Given the description of an element on the screen output the (x, y) to click on. 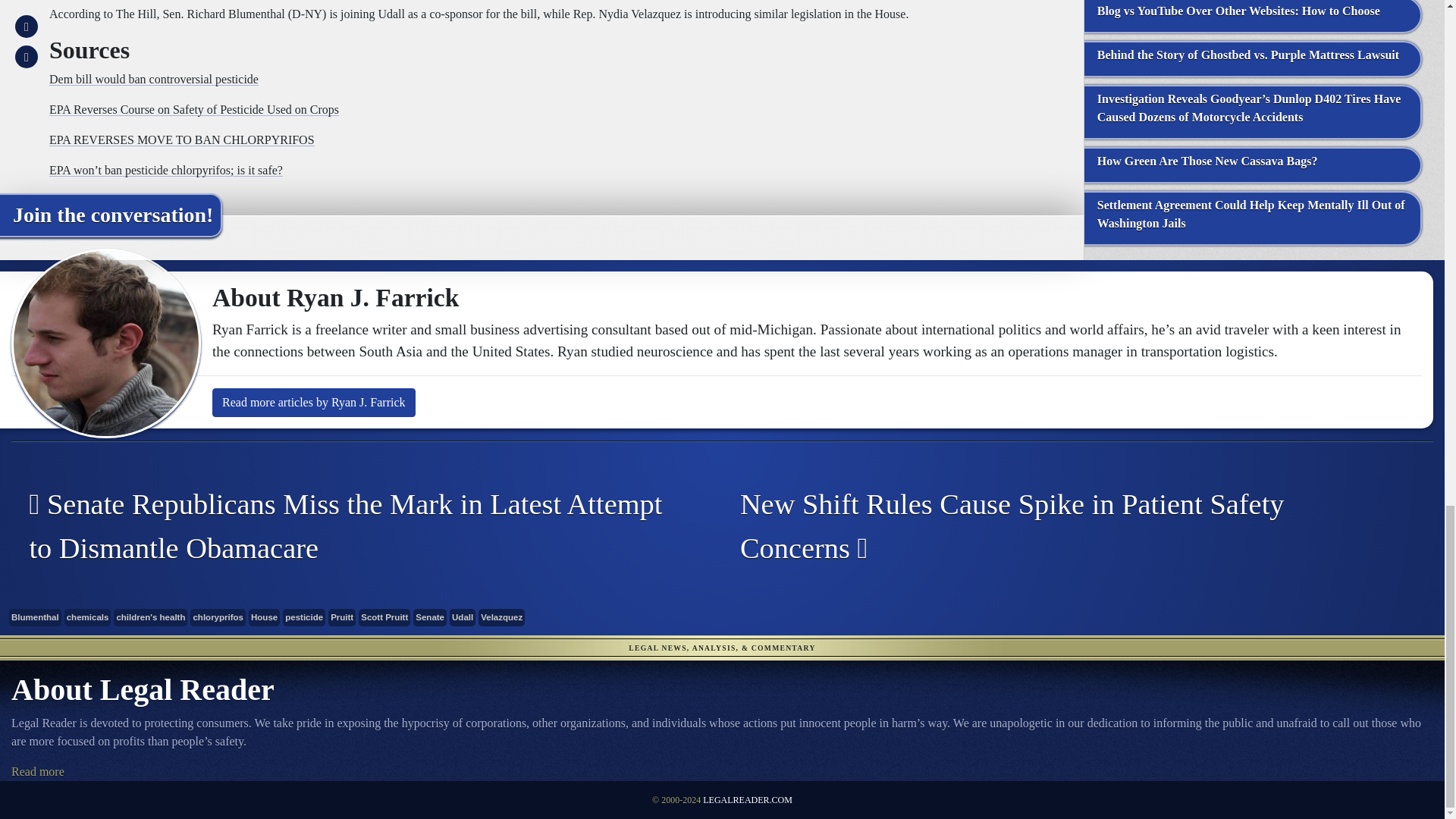
chemicals (88, 617)
EPA REVERSES MOVE TO BAN CHLORPYRIFOS (181, 139)
New Shift Rules Cause Spike in Patient Safety Concerns  (1066, 526)
Read more articles by Ryan J. Farrick (313, 402)
House (263, 617)
EPA Reverses Course on Safety of Pesticide Used on Crops (194, 109)
Pruitt (342, 617)
Dem bill would ban controversial pesticide (154, 78)
pesticide (303, 617)
